Given the description of an element on the screen output the (x, y) to click on. 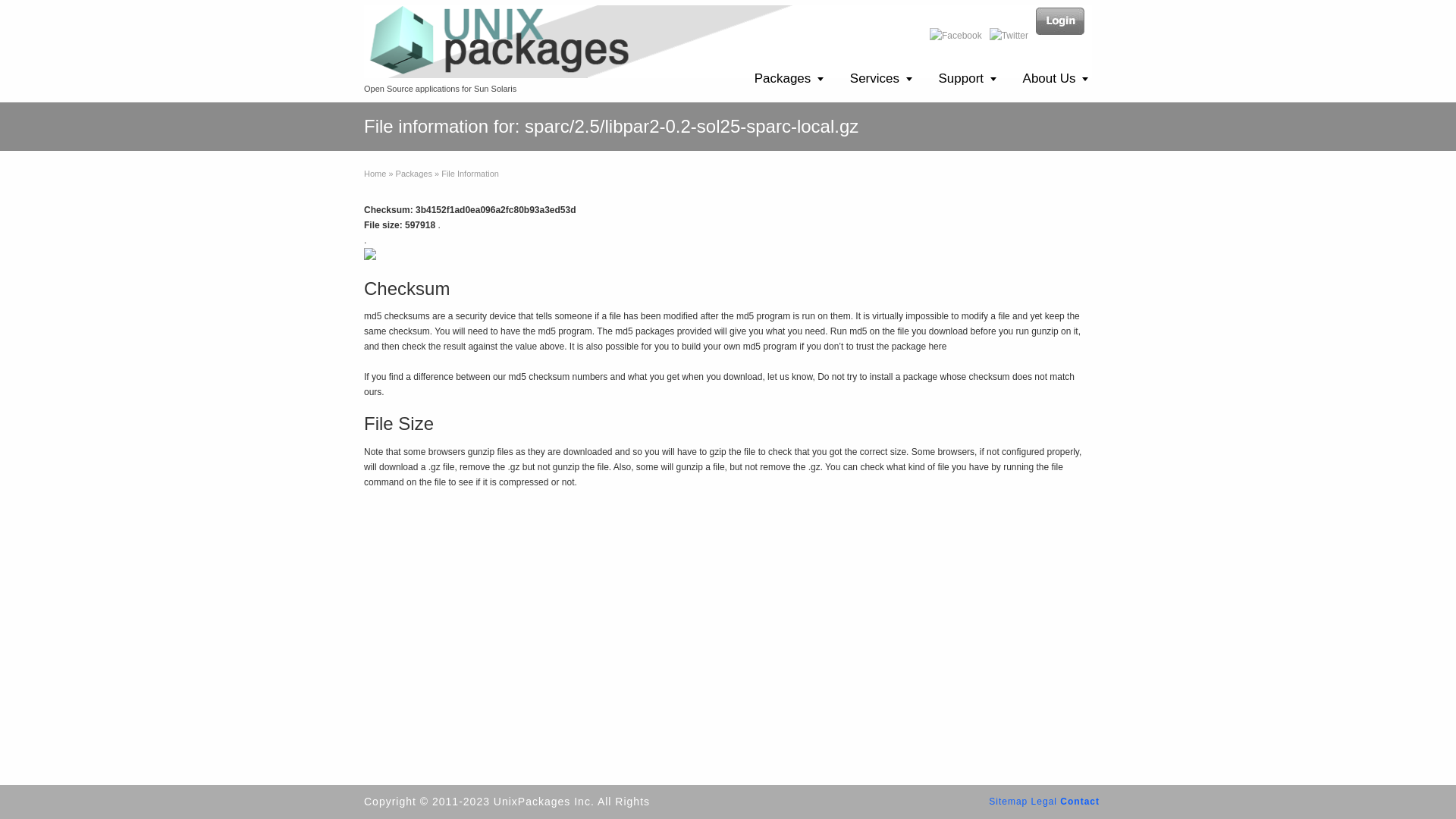
Packages (788, 78)
 Facebook (955, 35)
Sitemap (1007, 801)
Services (880, 78)
Packages (414, 173)
Legal (1043, 801)
 Twitter (1008, 35)
 Login (1059, 21)
Support (967, 78)
Contact (1079, 801)
